Given the description of an element on the screen output the (x, y) to click on. 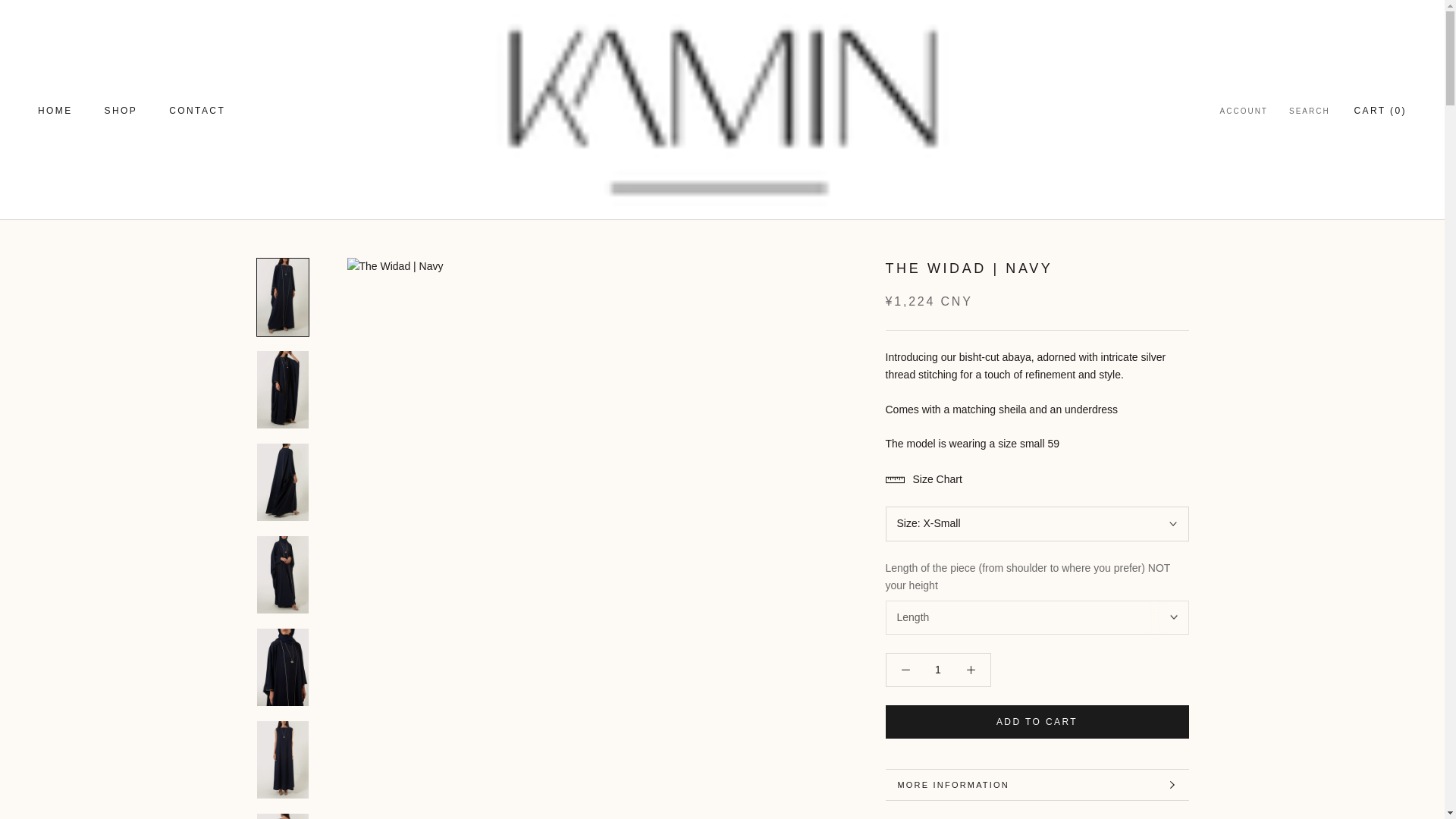
SHOP (121, 110)
1 (938, 669)
Length (1037, 617)
